Given the description of an element on the screen output the (x, y) to click on. 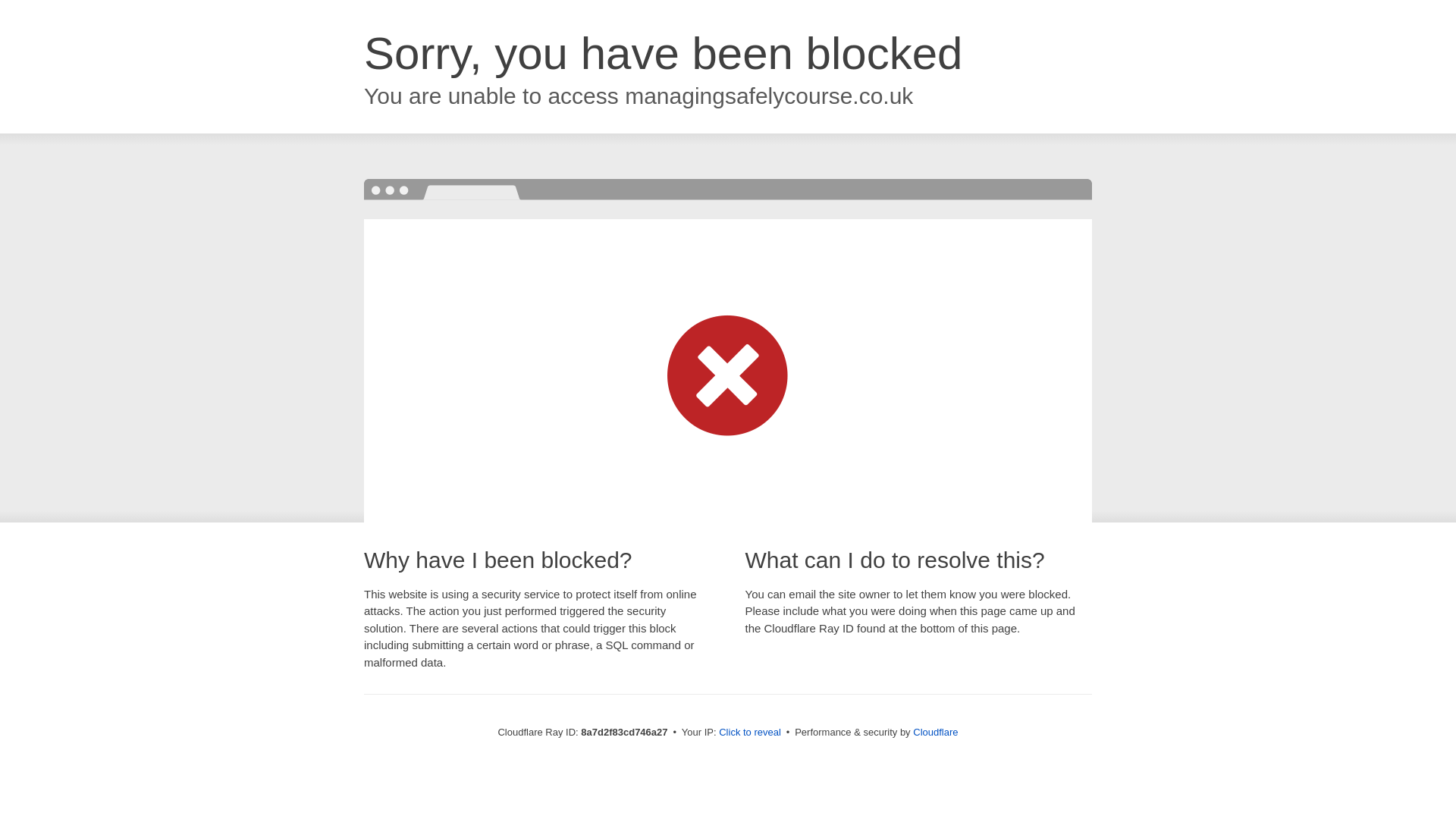
Click to reveal (749, 732)
Cloudflare (935, 731)
